Given the description of an element on the screen output the (x, y) to click on. 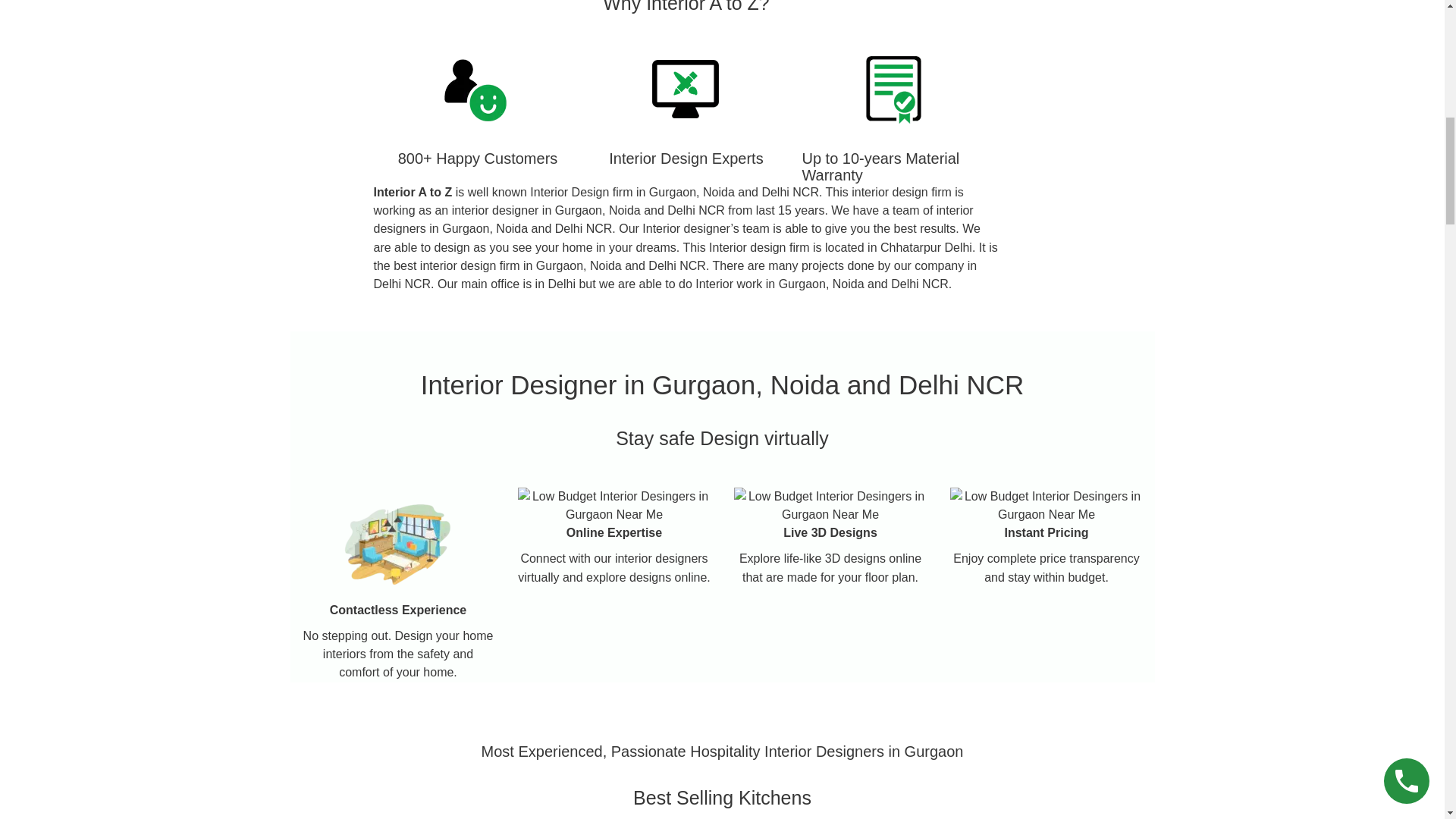
Low Budget Interior Desingers in Gurgaon Near Me (685, 89)
Low Budget Interior Desingers in Gurgaon Near Me (397, 544)
Low Budget Interior Desingers in Gurgaon Near Me (1045, 505)
Low Budget Interior Desingers in Gurgaon Near Me (895, 89)
Low Budget Interior Desingers in Gurgaon Near Me (830, 505)
Low Budget Interior Desingers in Gurgaon Near Me (477, 89)
Low Budget Interior Desingers in Gurgaon Near Me (613, 505)
